Given the description of an element on the screen output the (x, y) to click on. 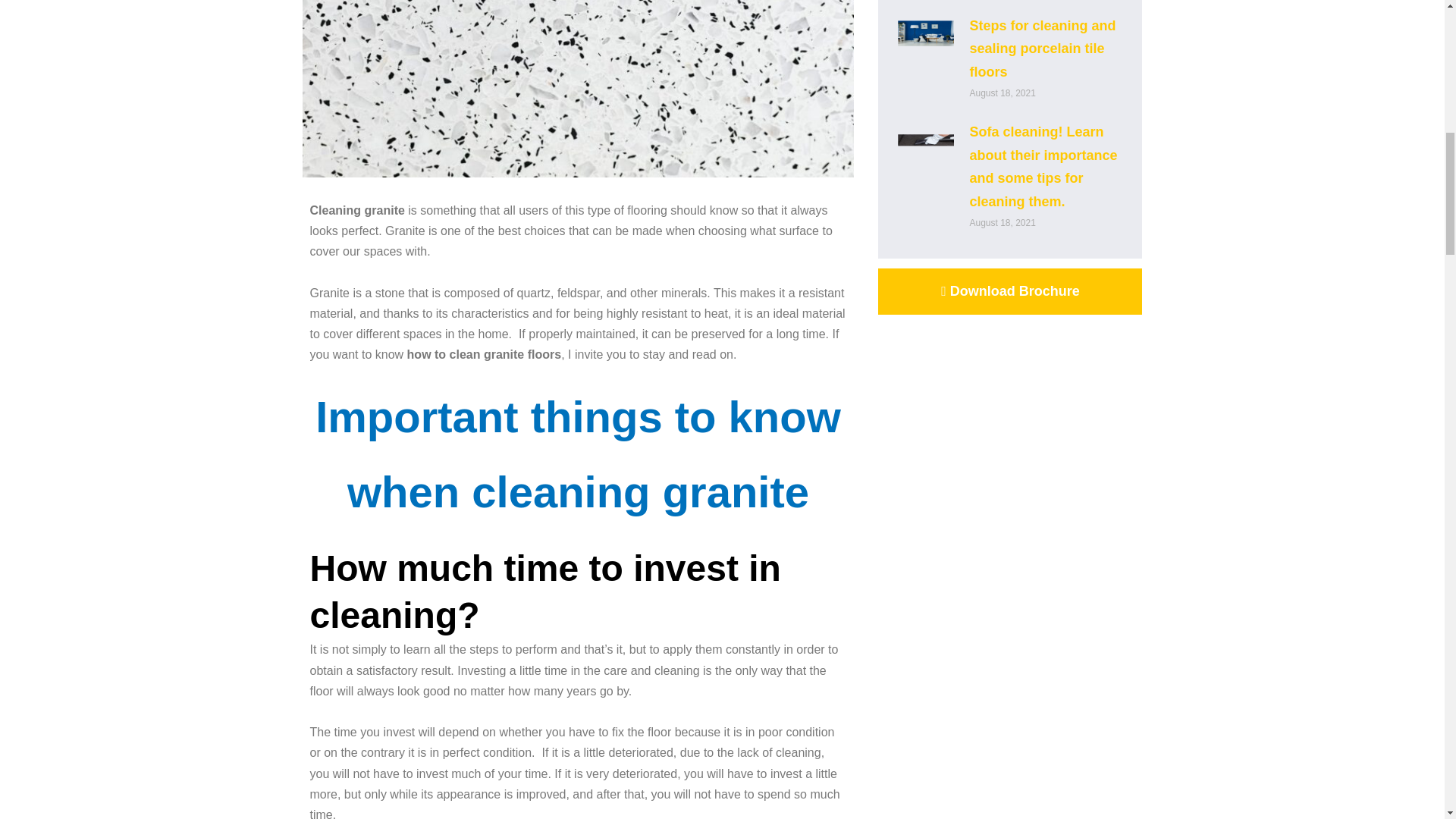
Steps for cleaning and sealing porcelain tile floors (1042, 48)
Download Brochure (1009, 291)
